Given the description of an element on the screen output the (x, y) to click on. 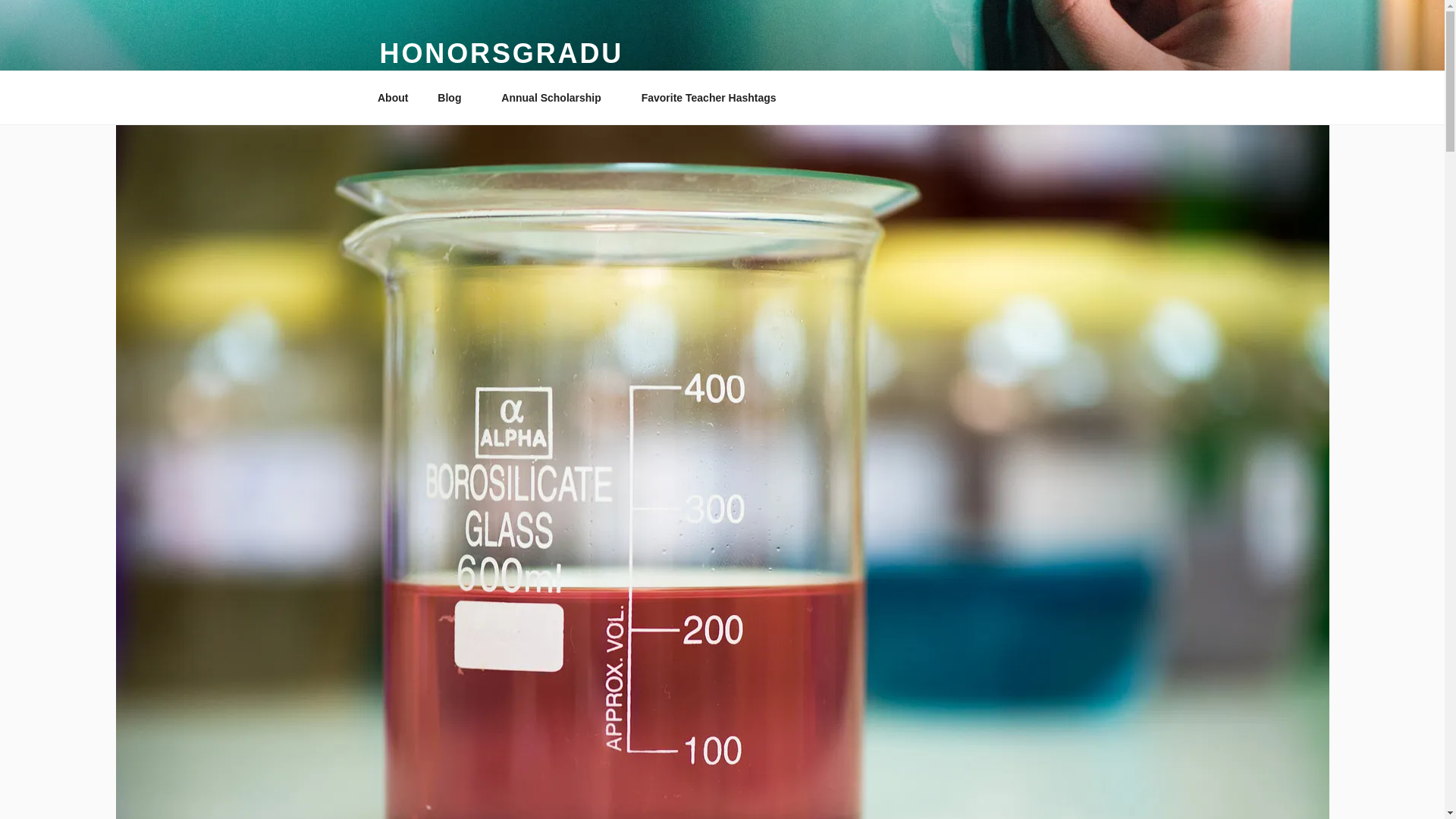
Favorite Teacher Hashtags (713, 97)
Annual Scholarship (555, 97)
Blog (454, 97)
About (392, 97)
HONORSGRADU (500, 52)
